Given the description of an element on the screen output the (x, y) to click on. 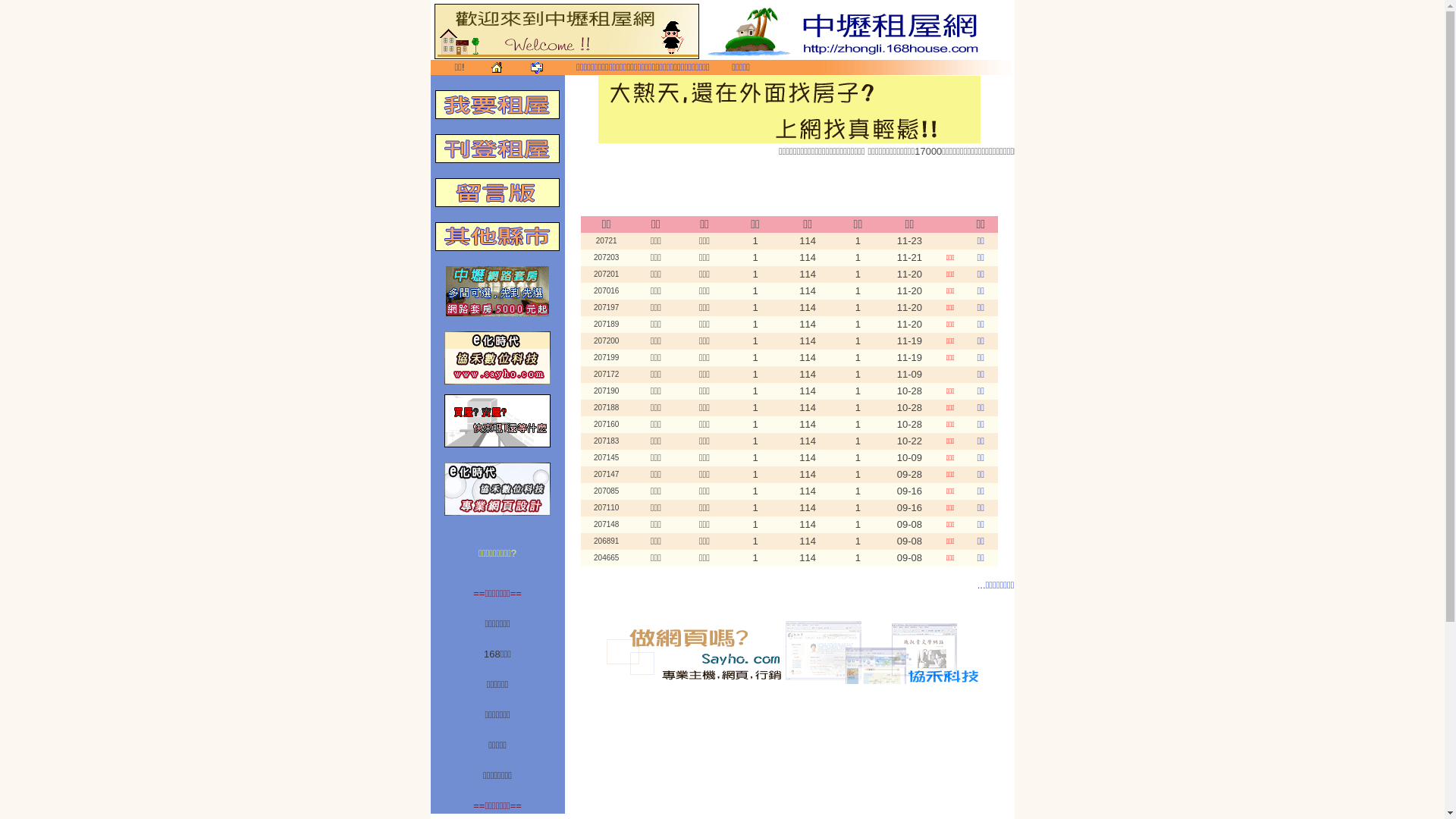
Advertisement Element type: hover (788, 191)
